Given the description of an element on the screen output the (x, y) to click on. 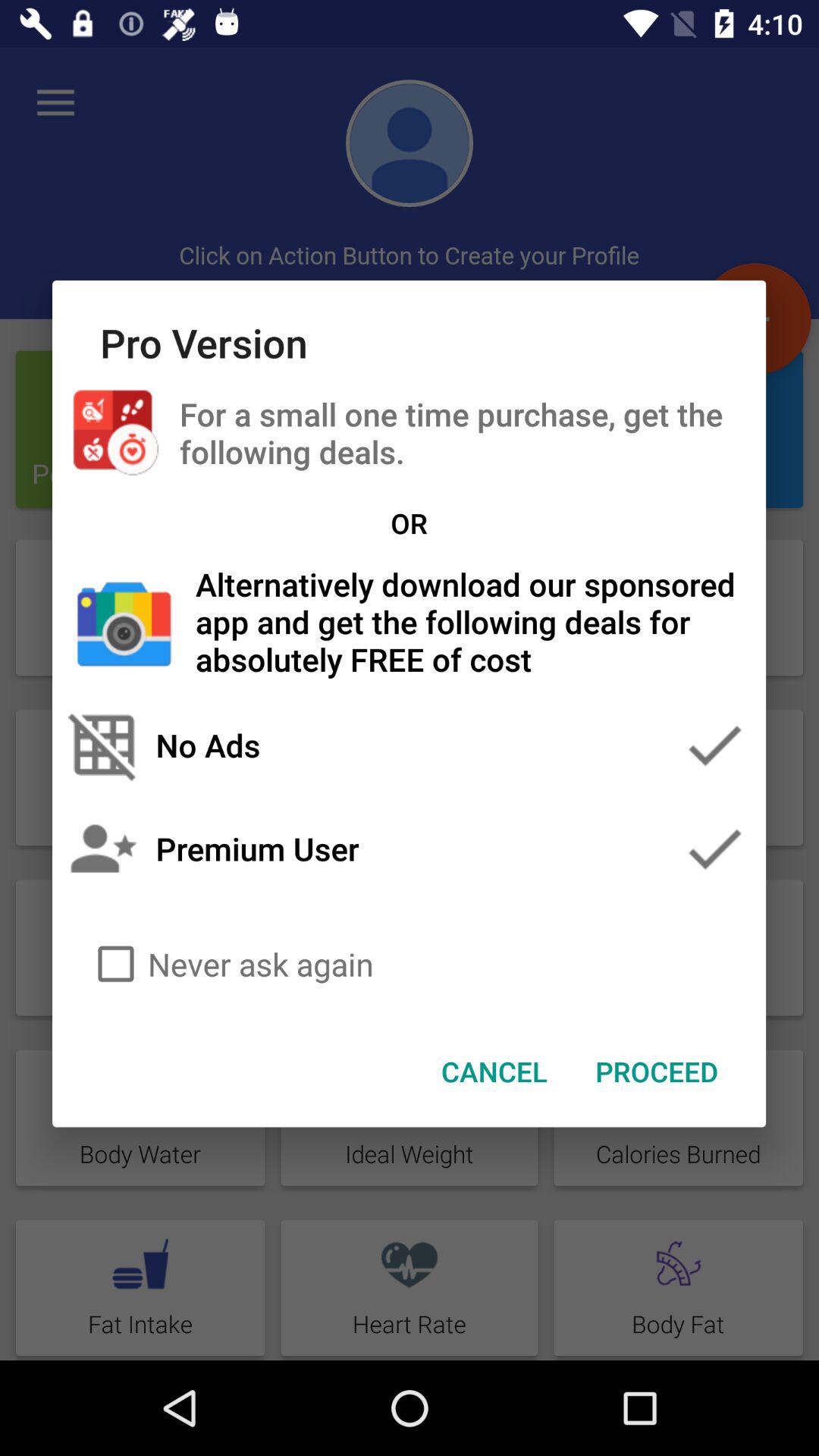
tap the item at the bottom right corner (656, 1071)
